Given the description of an element on the screen output the (x, y) to click on. 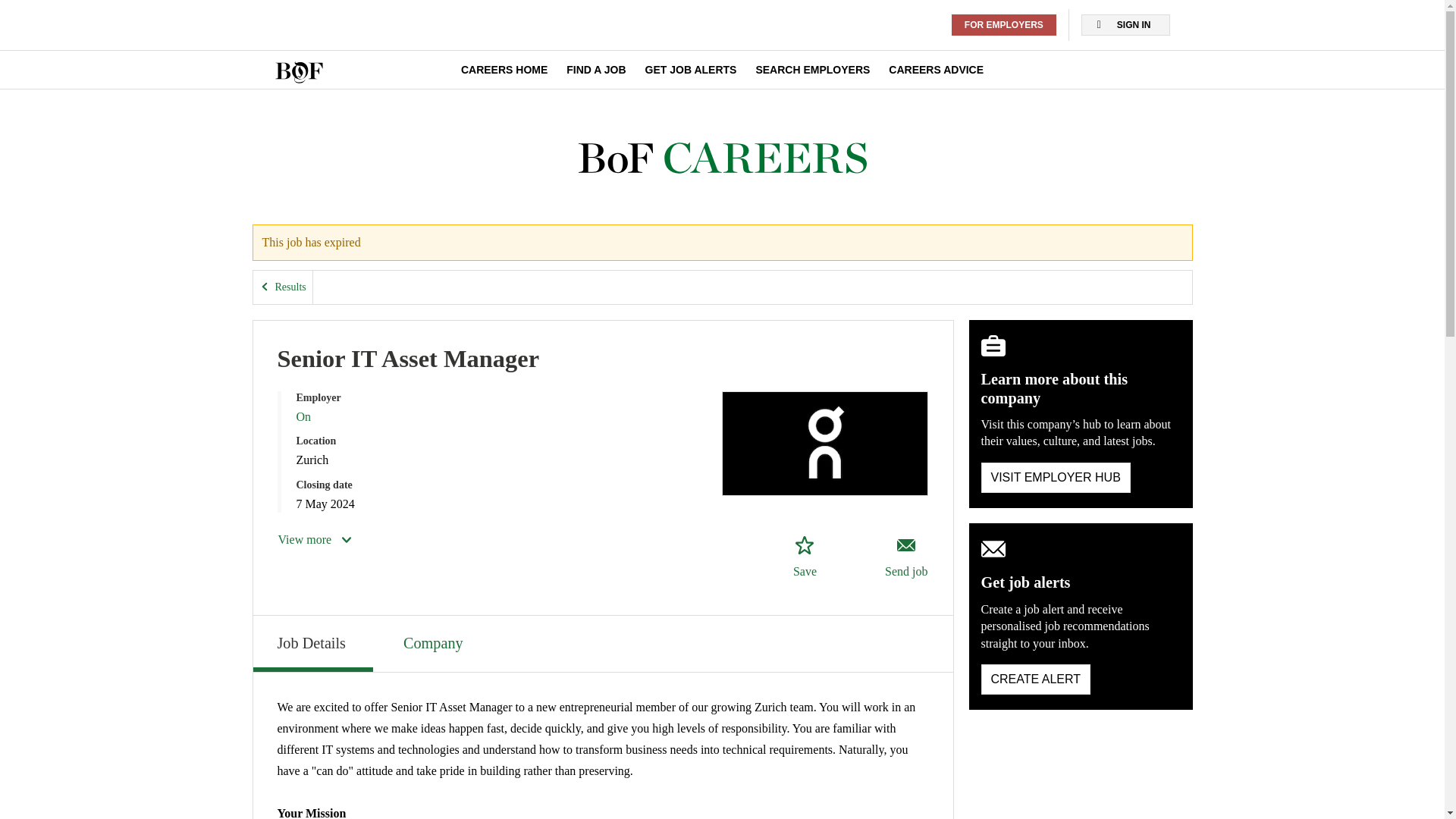
GET JOB ALERTS (690, 69)
Company (434, 641)
View more (315, 539)
On (303, 416)
FOR EMPLOYERS (1004, 25)
VISIT EMPLOYER HUB (1056, 477)
BoF Careers (722, 158)
CAREERS ADVICE (936, 69)
FIND A JOB (596, 69)
Job Details (312, 643)
